Given the description of an element on the screen output the (x, y) to click on. 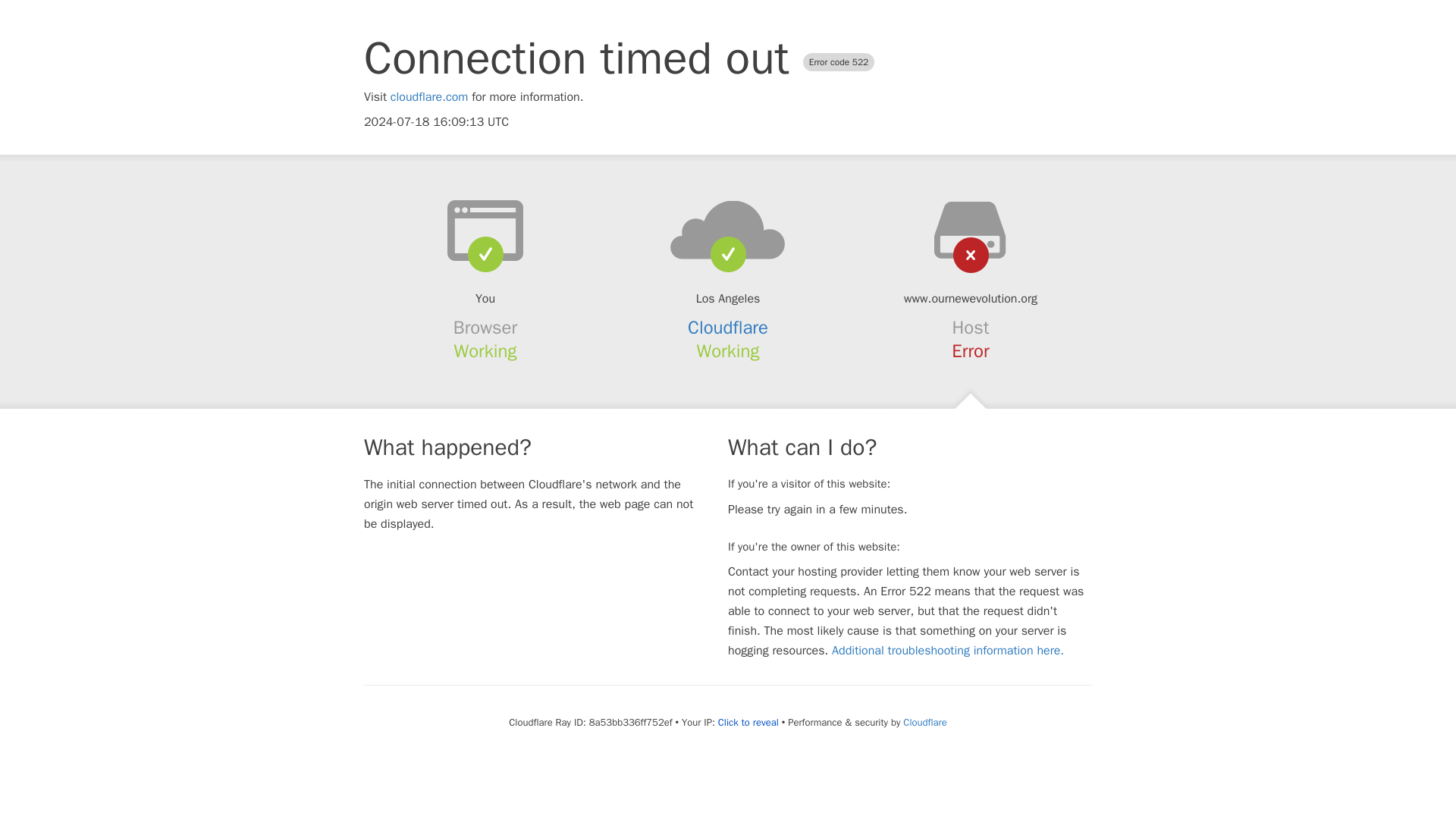
Cloudflare (727, 327)
Click to reveal (747, 722)
Cloudflare (924, 721)
Additional troubleshooting information here. (947, 650)
cloudflare.com (429, 96)
